Given the description of an element on the screen output the (x, y) to click on. 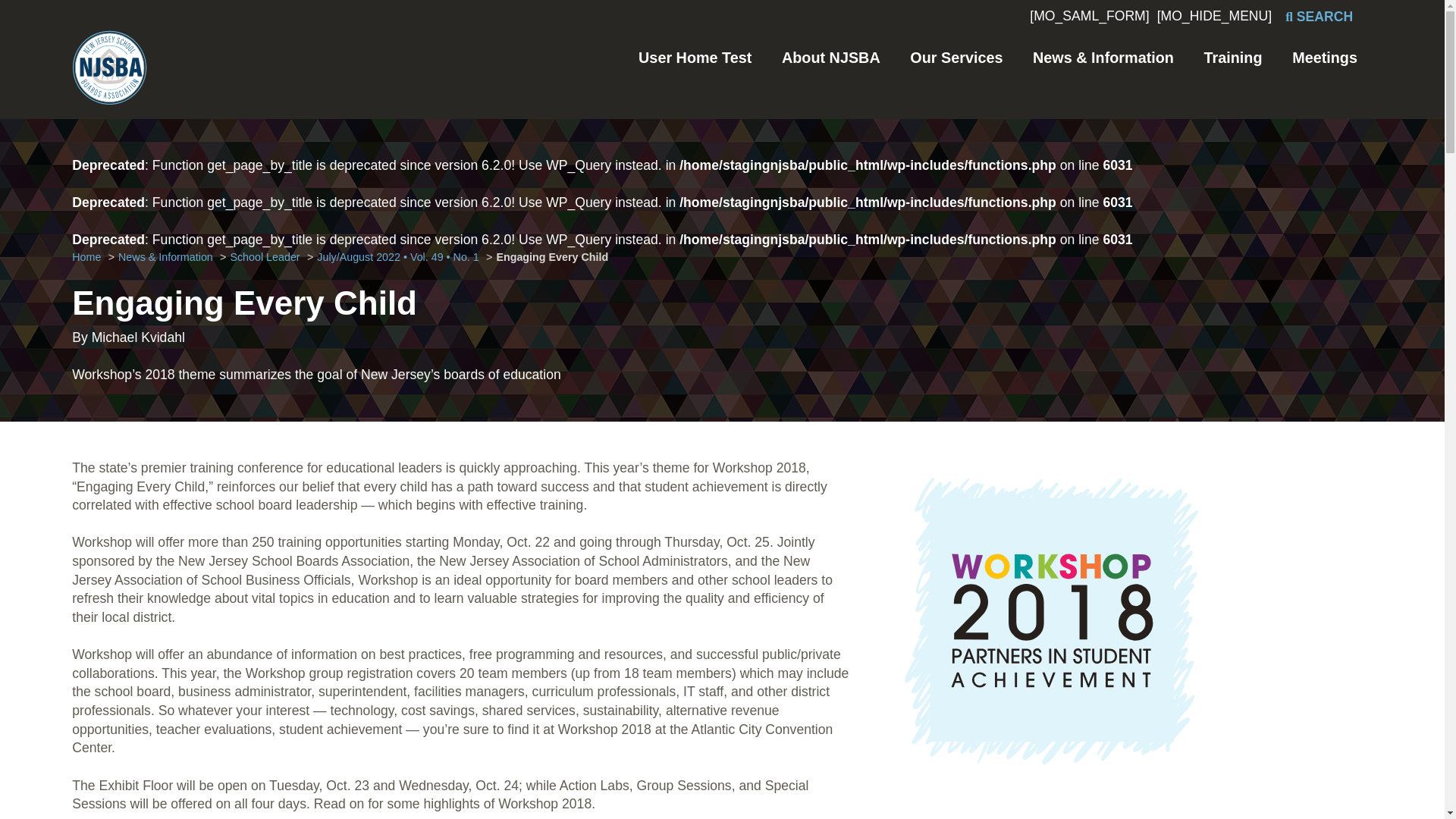
User Home Test (695, 57)
Our Services (956, 57)
SEARCH (1318, 17)
About NJSBA (831, 57)
